Given the description of an element on the screen output the (x, y) to click on. 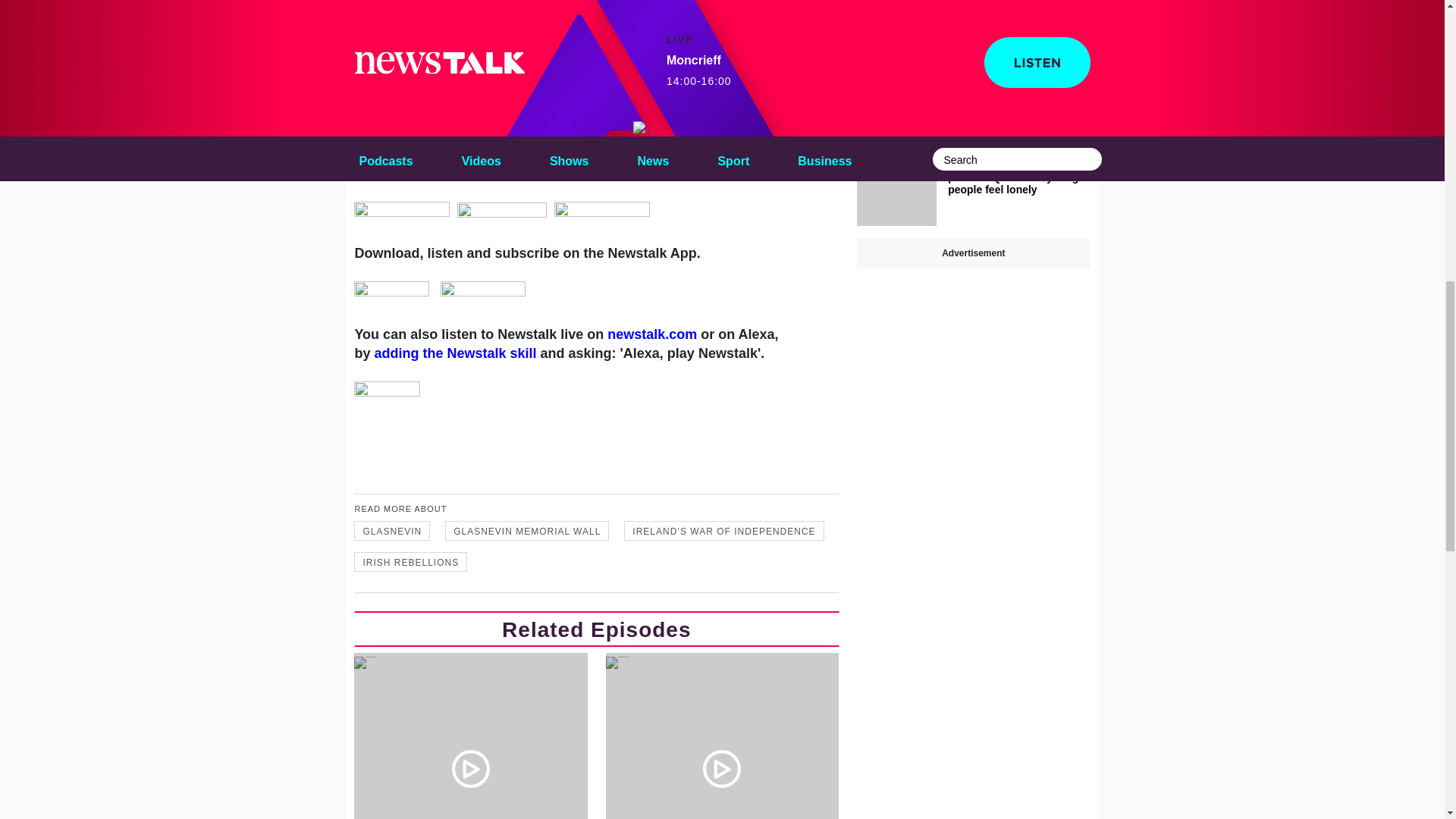
Spotify (469, 172)
Apple Podcasts (709, 153)
Google Podcasts (583, 163)
